Given the description of an element on the screen output the (x, y) to click on. 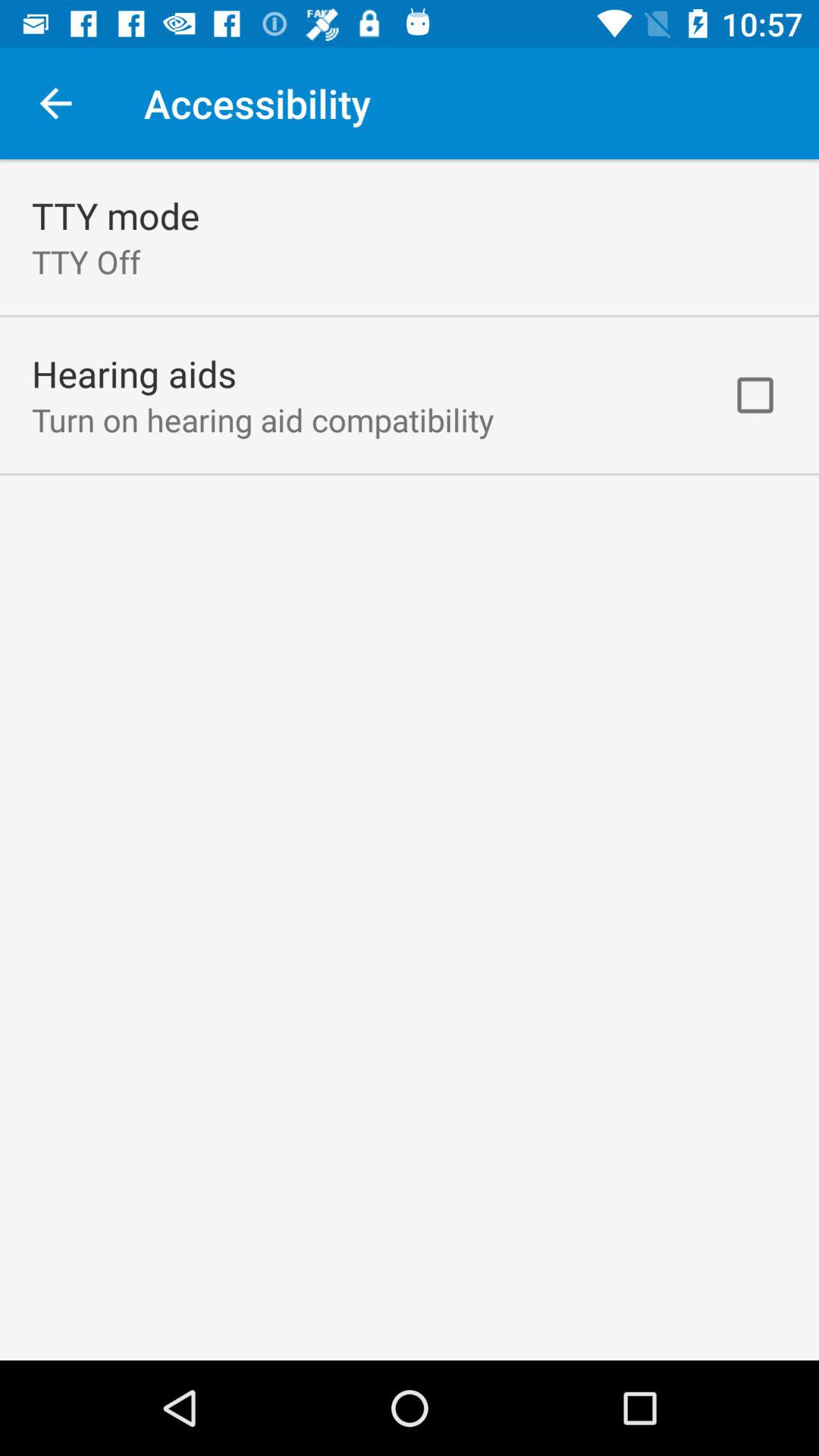
swipe until turn on hearing icon (262, 419)
